Given the description of an element on the screen output the (x, y) to click on. 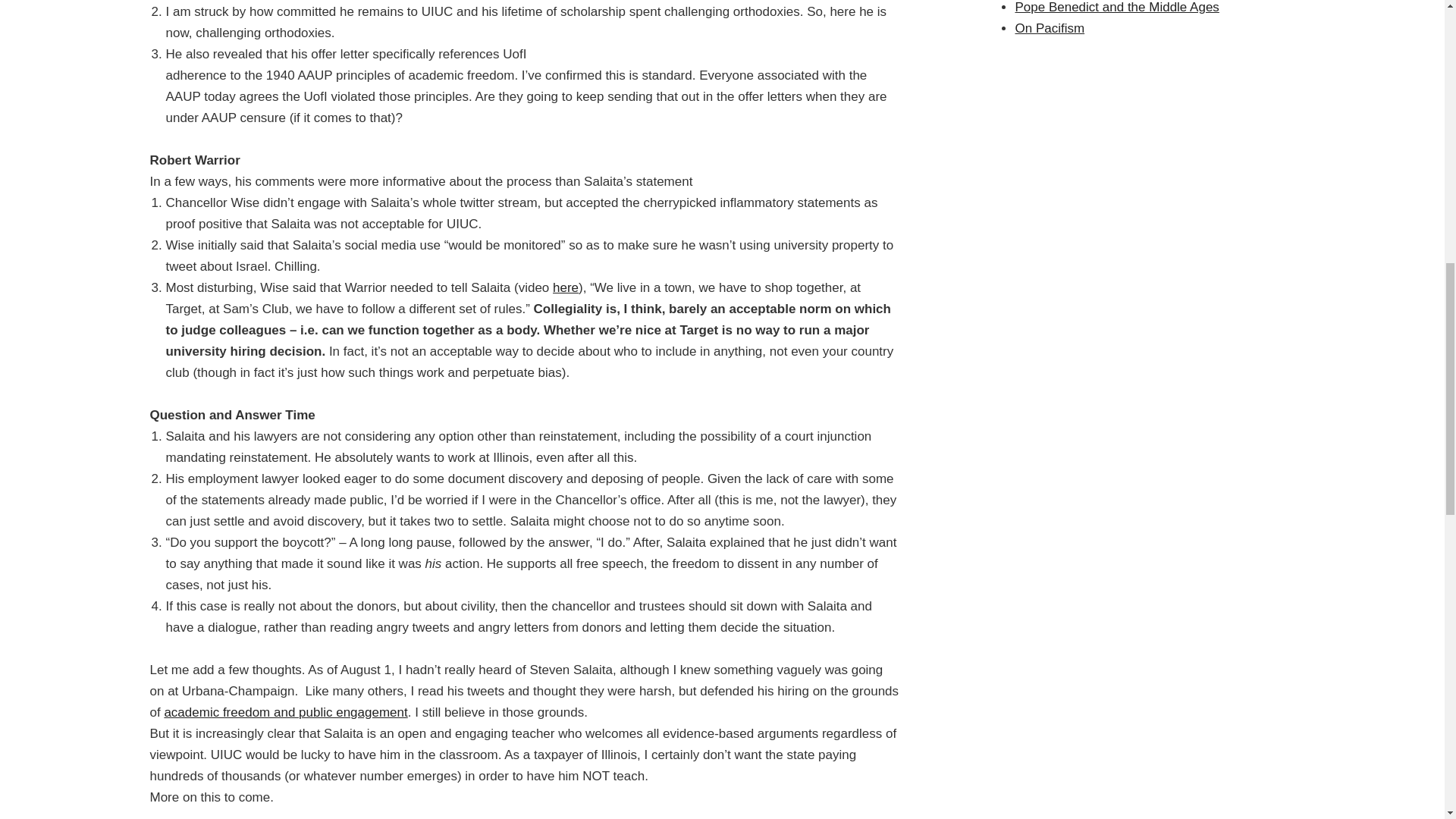
here (565, 287)
Pope Benedict and the Middle Ages (1116, 7)
academic freedom and public engagement (285, 712)
